Given the description of an element on the screen output the (x, y) to click on. 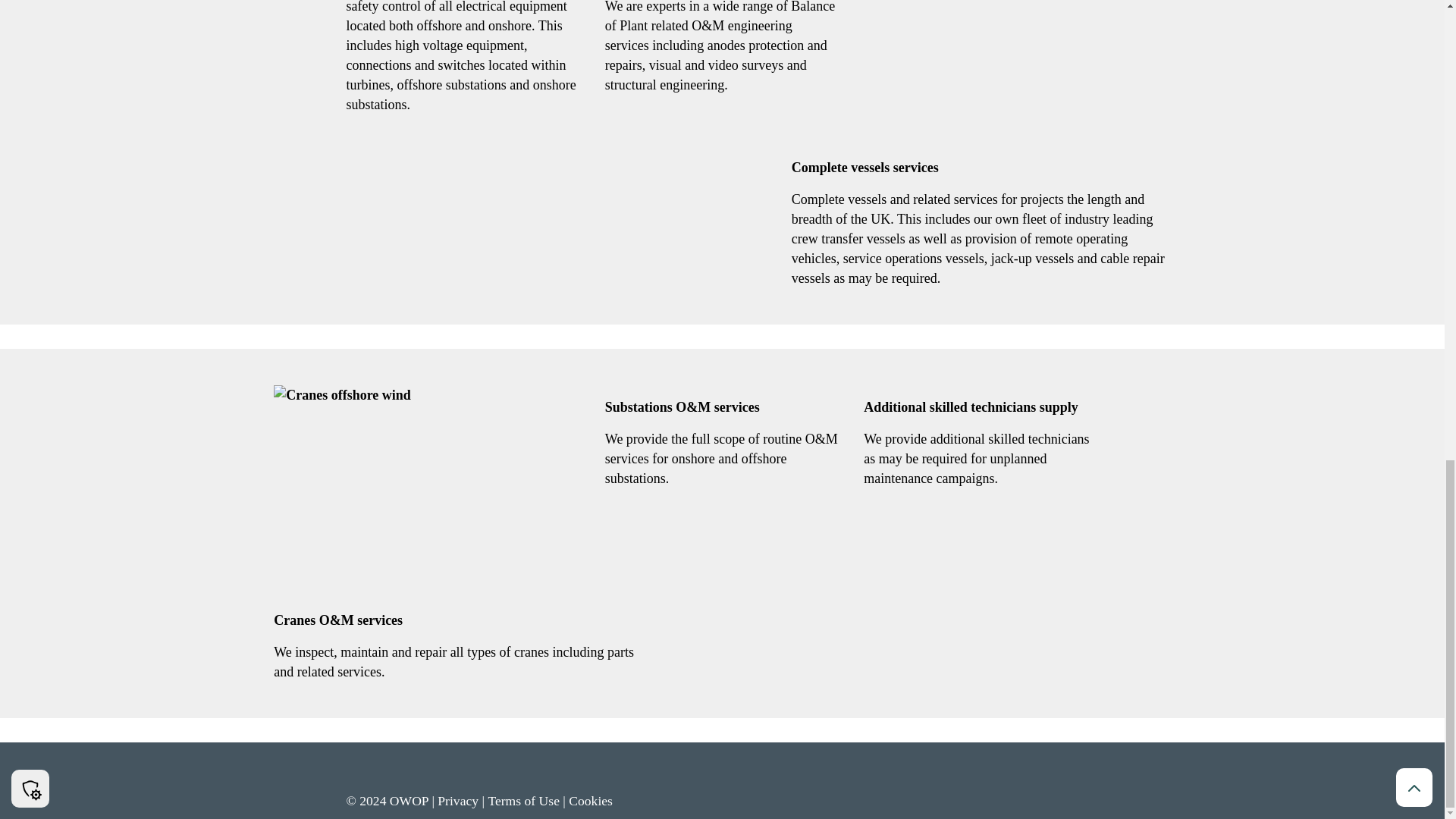
Terms of Use (523, 800)
Privacy (458, 800)
Cookies (590, 800)
Cookies (590, 800)
Terms of Use (523, 800)
Privacy (458, 800)
